Given the description of an element on the screen output the (x, y) to click on. 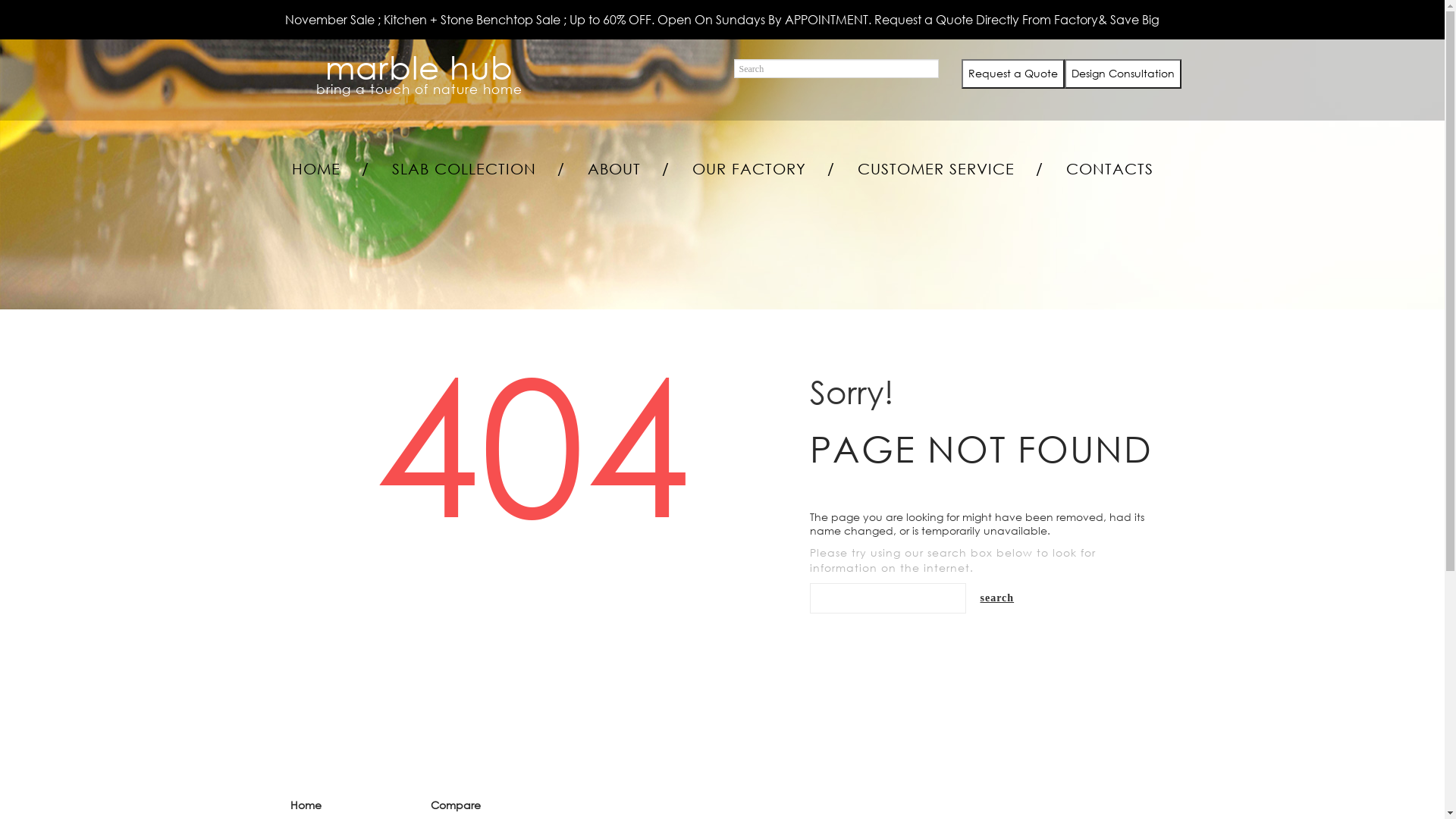
Request a Quote Element type: text (1012, 72)
ABOUT Element type: text (613, 168)
Request a Quote Element type: text (1012, 73)
CUSTOMER SERVICE Element type: text (934, 168)
CONTACTS Element type: text (1109, 168)
marble hub Element type: text (418, 66)
HOME Element type: text (315, 168)
Design Consultation Element type: text (1122, 73)
SLAB COLLECTION Element type: text (463, 168)
X Element type: text (1427, 27)
search Element type: text (997, 598)
Compare Element type: text (455, 804)
Home Element type: text (304, 804)
Design Consultation Element type: text (1121, 72)
OUR FACTORY Element type: text (748, 168)
